Given the description of an element on the screen output the (x, y) to click on. 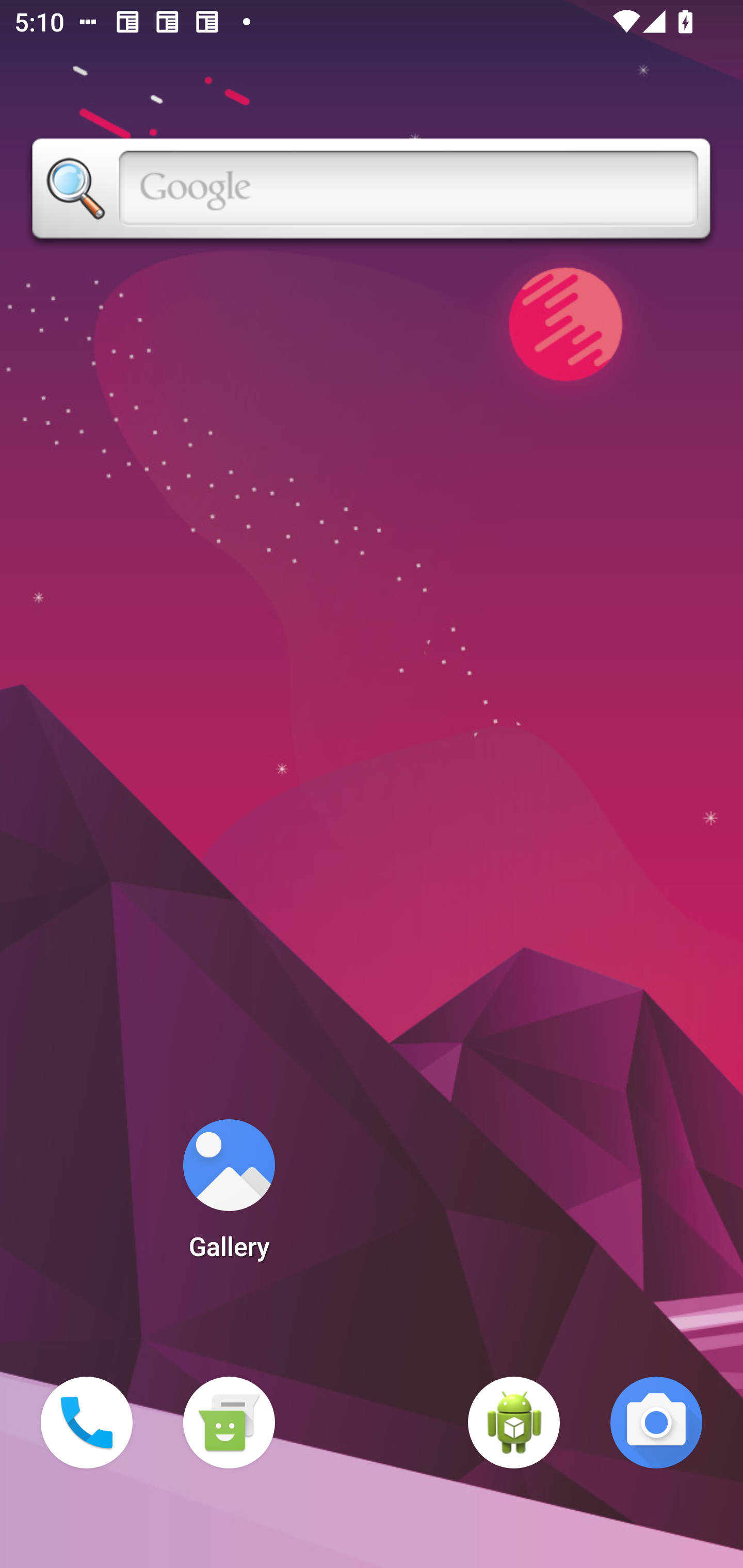
Gallery (228, 1195)
Phone (86, 1422)
Messaging (228, 1422)
WebView Browser Tester (513, 1422)
Camera (656, 1422)
